Given the description of an element on the screen output the (x, y) to click on. 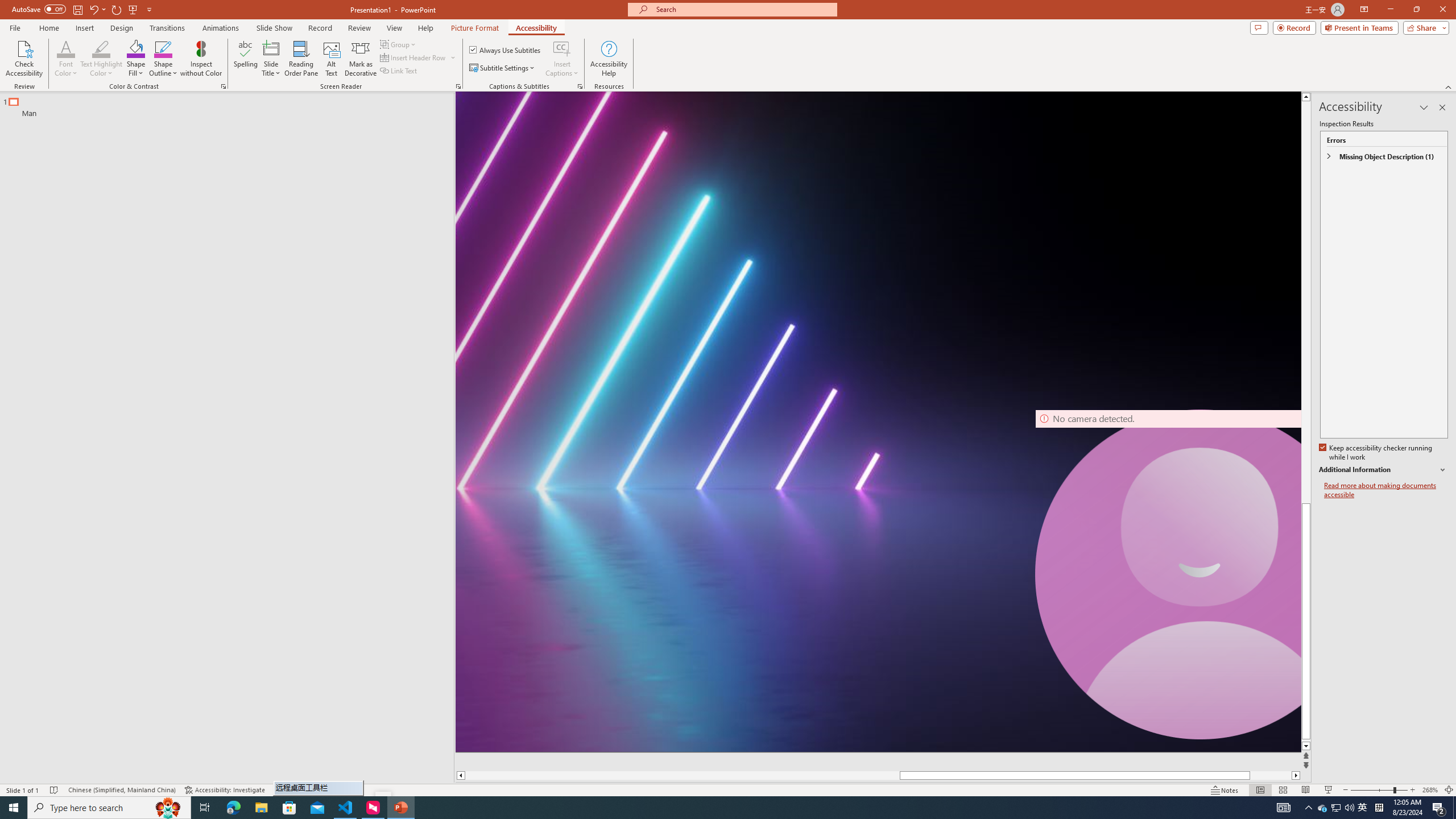
System (6, 6)
Color & Contrast (223, 85)
Design (122, 28)
View (395, 28)
Insert Captions (561, 48)
Normal (1260, 790)
Review (359, 28)
Animations (220, 28)
Slide Title (271, 48)
Reading View (1305, 790)
Comments (1259, 27)
Minimize (1390, 9)
Shape Fill (135, 58)
